Given the description of an element on the screen output the (x, y) to click on. 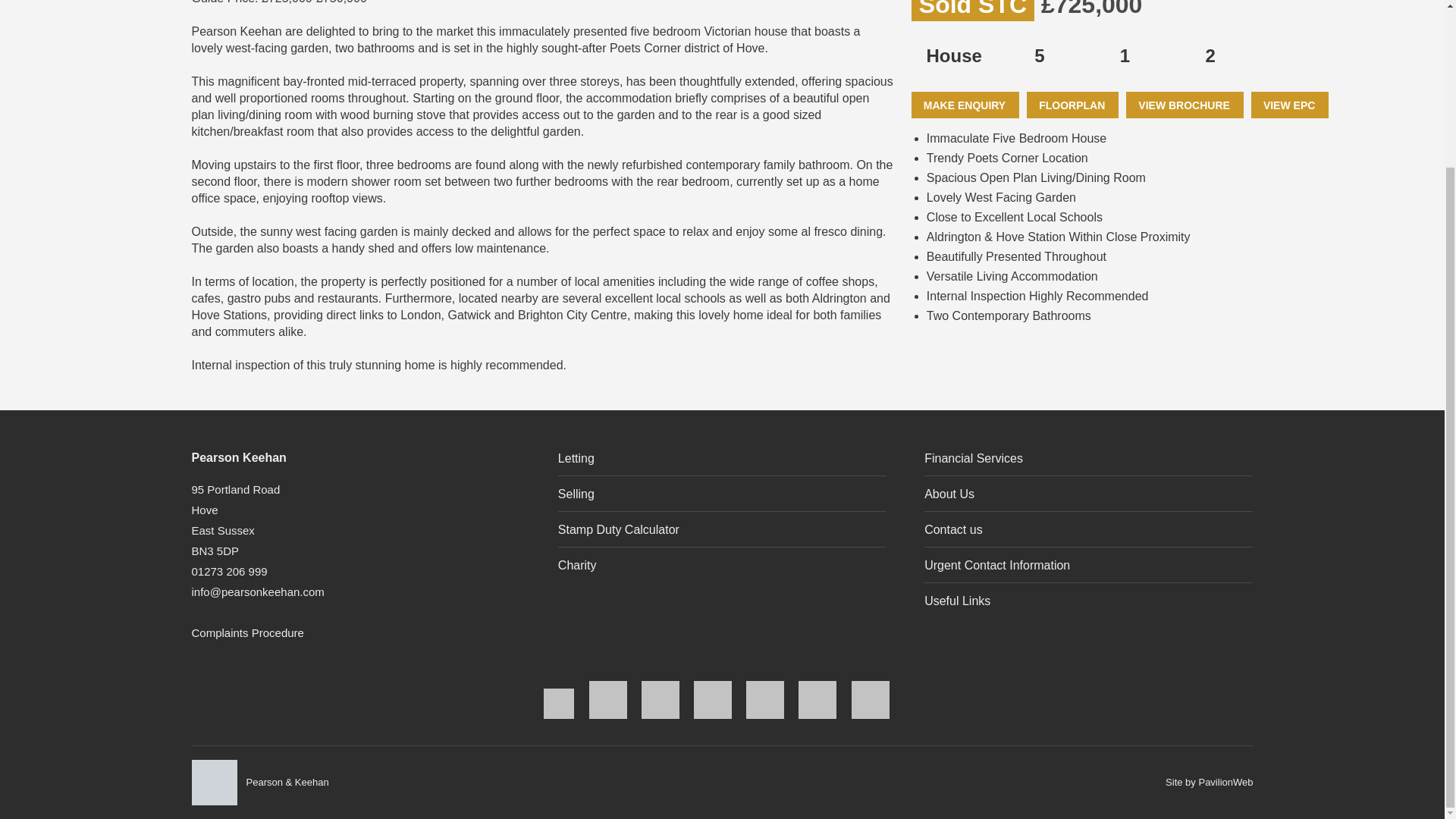
VIEW BROCHURE (1184, 104)
VIEW EPC (1288, 104)
FLOORPLAN (1072, 104)
MAKE ENQUIRY (965, 104)
